Given the description of an element on the screen output the (x, y) to click on. 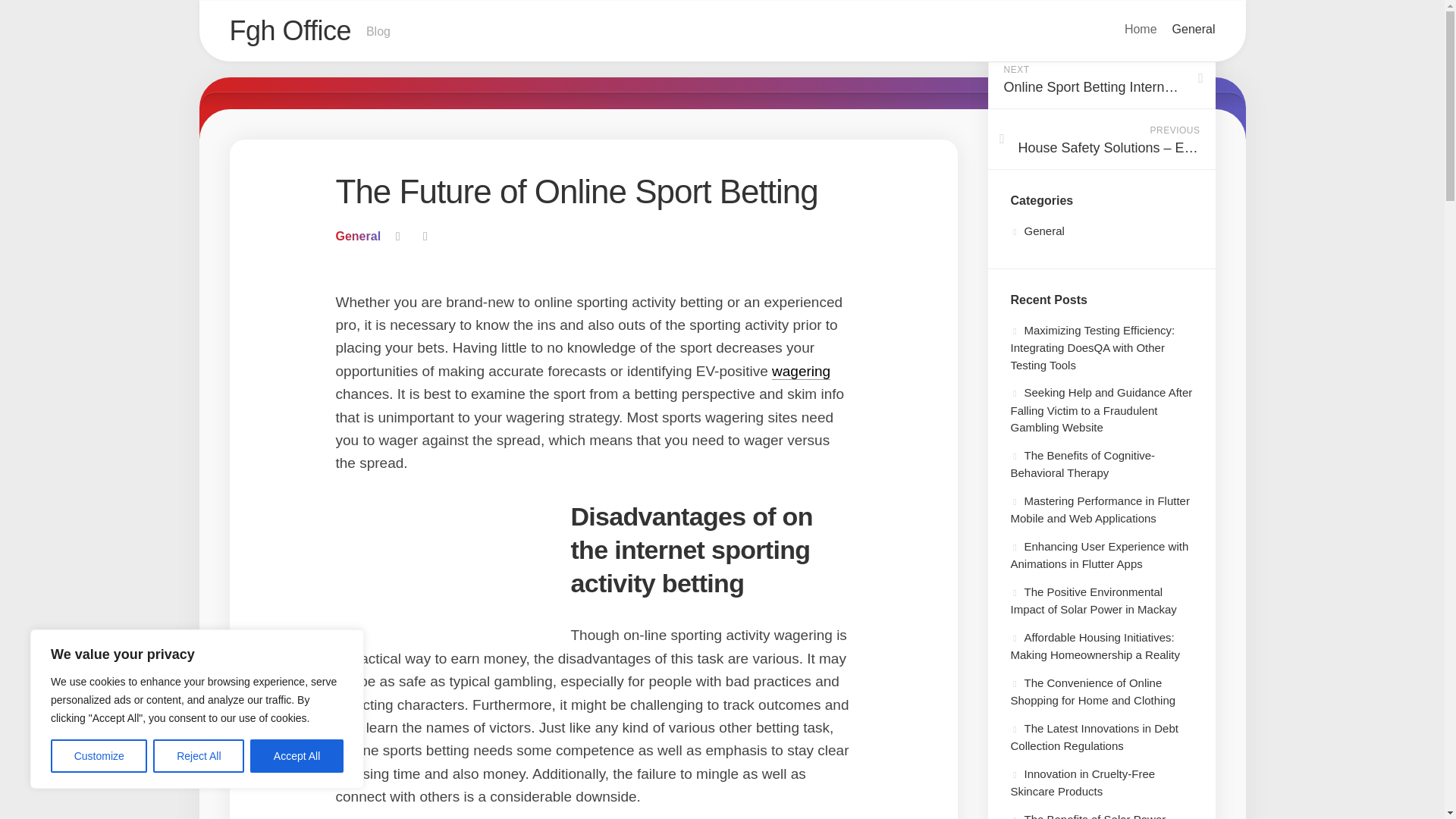
Accept All (296, 756)
Reject All (198, 756)
wagering (800, 371)
Fgh Office (289, 31)
Home (1140, 29)
Mastering Performance in Flutter Mobile and Web Applications (1100, 78)
General (1099, 509)
General (721, 31)
The Benefits of Cognitive-Behavioral Therapy (357, 236)
General (1193, 29)
Customize (1082, 463)
